Given the description of an element on the screen output the (x, y) to click on. 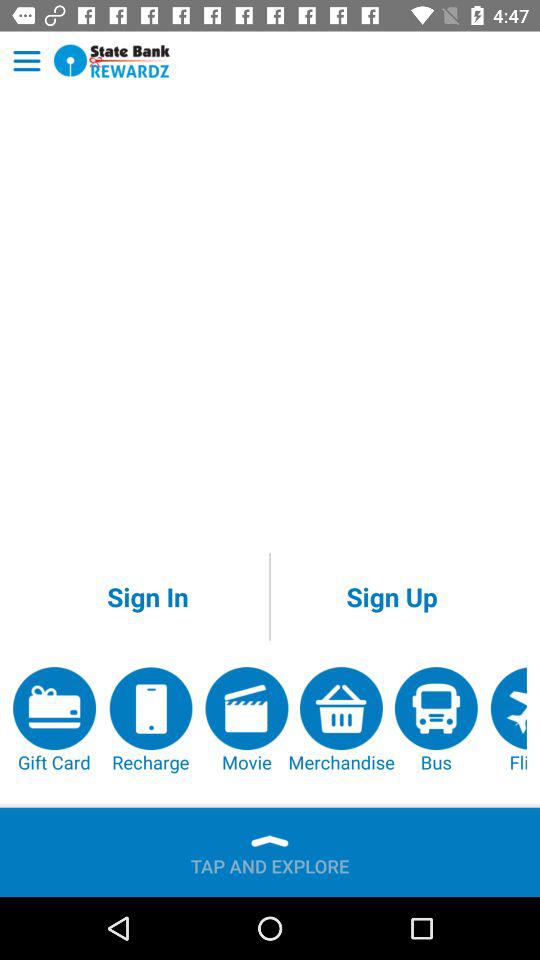
turn on the app to the right of the merchandise item (435, 720)
